Given the description of an element on the screen output the (x, y) to click on. 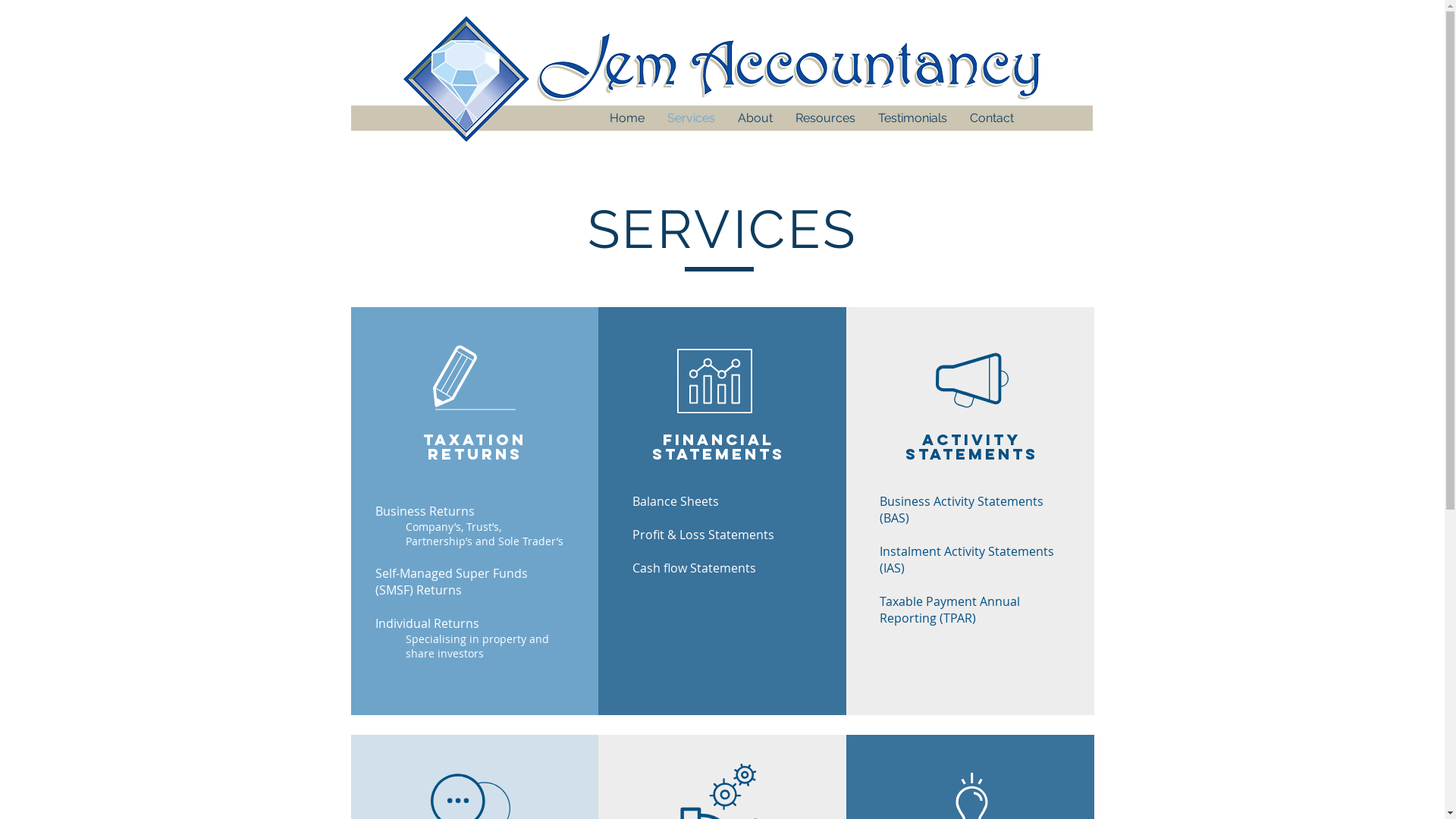
Testimonials Element type: text (911, 117)
About Element type: text (755, 117)
Contact Element type: text (991, 117)
Resources Element type: text (825, 117)
Services Element type: text (690, 117)
Home Element type: text (626, 117)
